Given the description of an element on the screen output the (x, y) to click on. 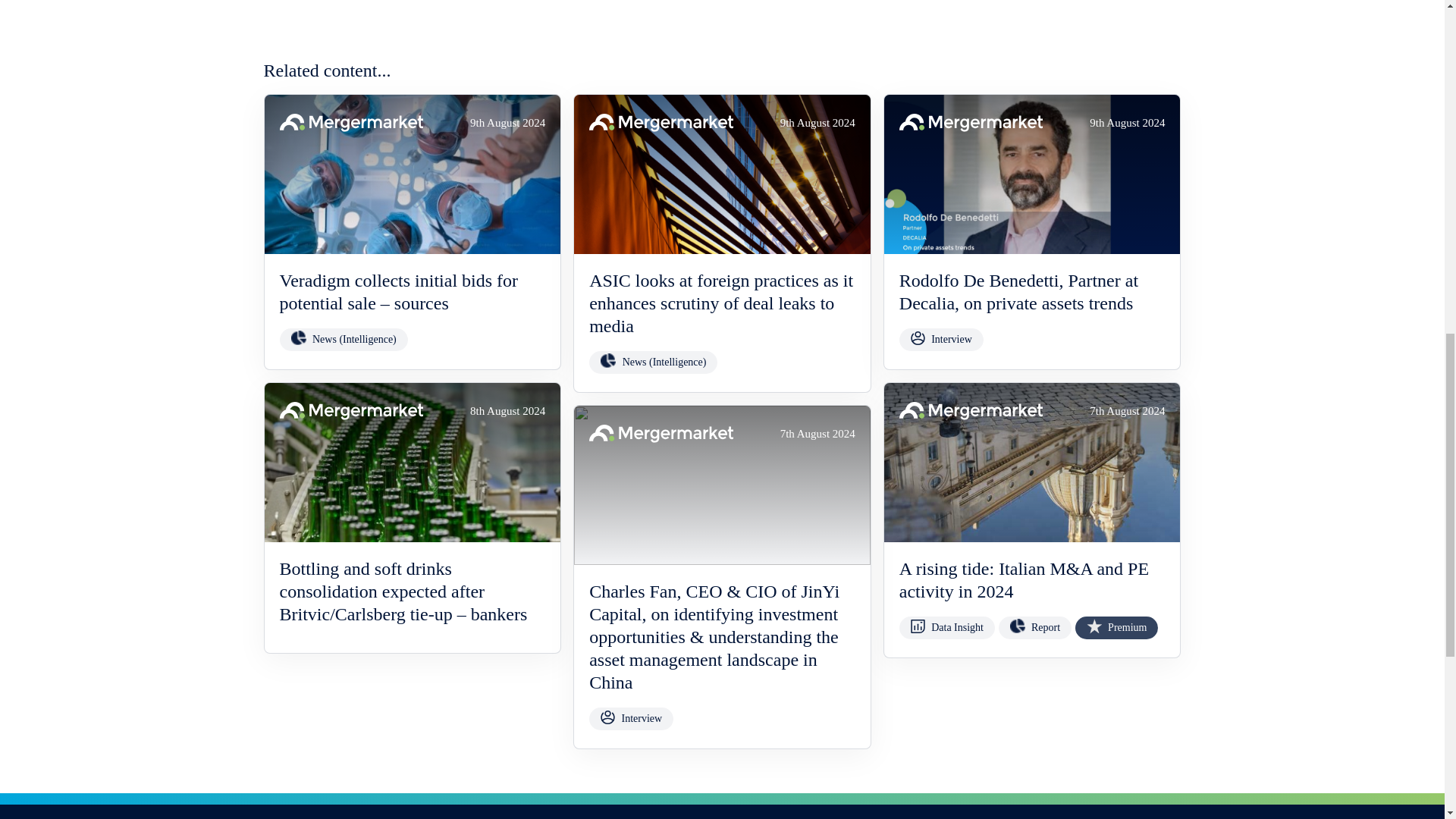
9th August 2024 (721, 174)
9th August 2024 (1031, 174)
9th August 2024 (411, 174)
8th August 2024 (411, 462)
Interview (941, 339)
